Given the description of an element on the screen output the (x, y) to click on. 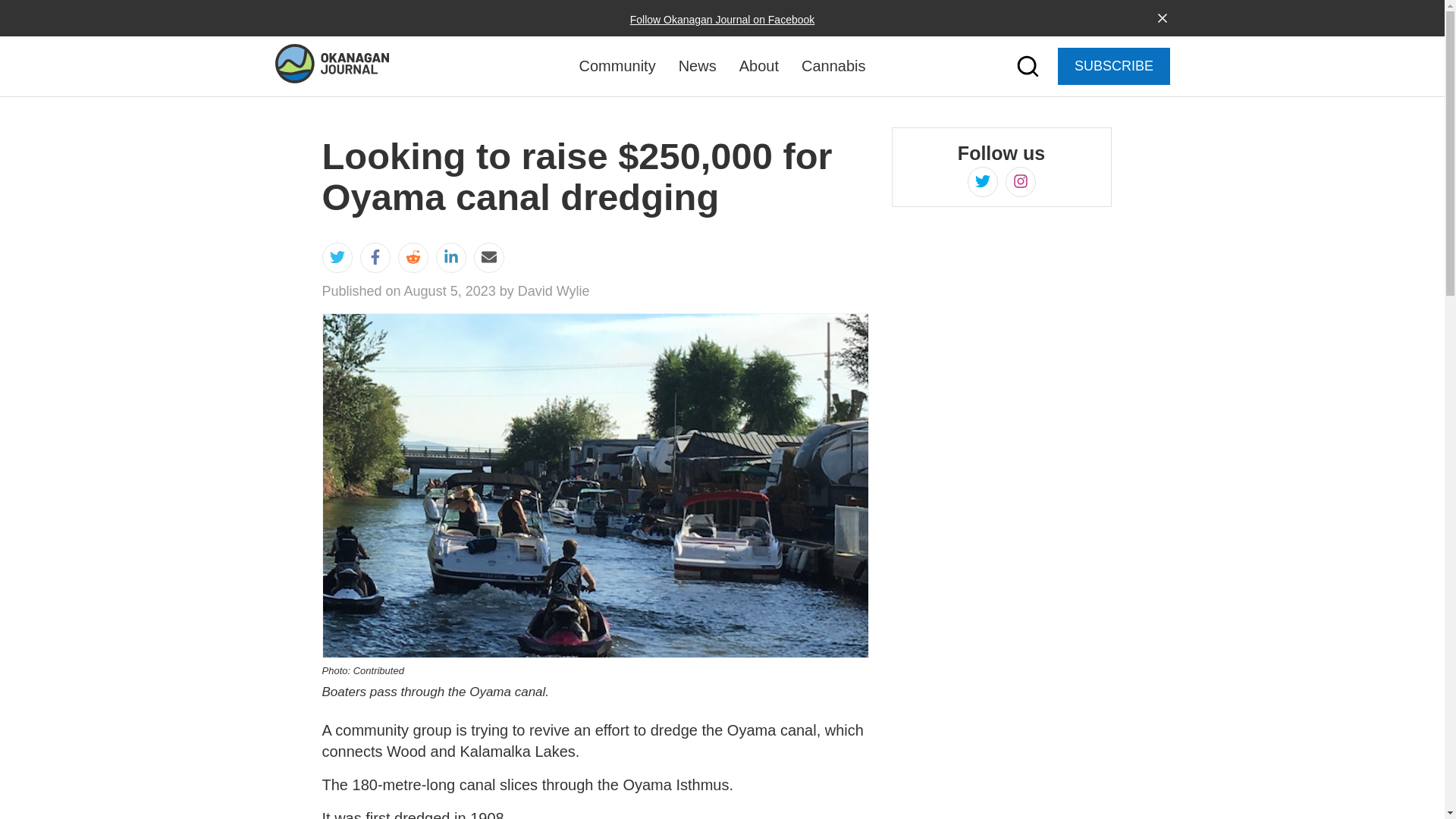
Community (617, 65)
Cannabis (834, 65)
Share this story on LinkedIn (450, 257)
Submit to Reddit (412, 257)
Send Message (647, 643)
About (758, 65)
Share this story on Twitter (336, 257)
News (697, 65)
Share this story on Facebook (374, 257)
Email this story (488, 257)
Follow Okanagan Journal on Facebook (722, 20)
Subscribe (614, 474)
